Given the description of an element on the screen output the (x, y) to click on. 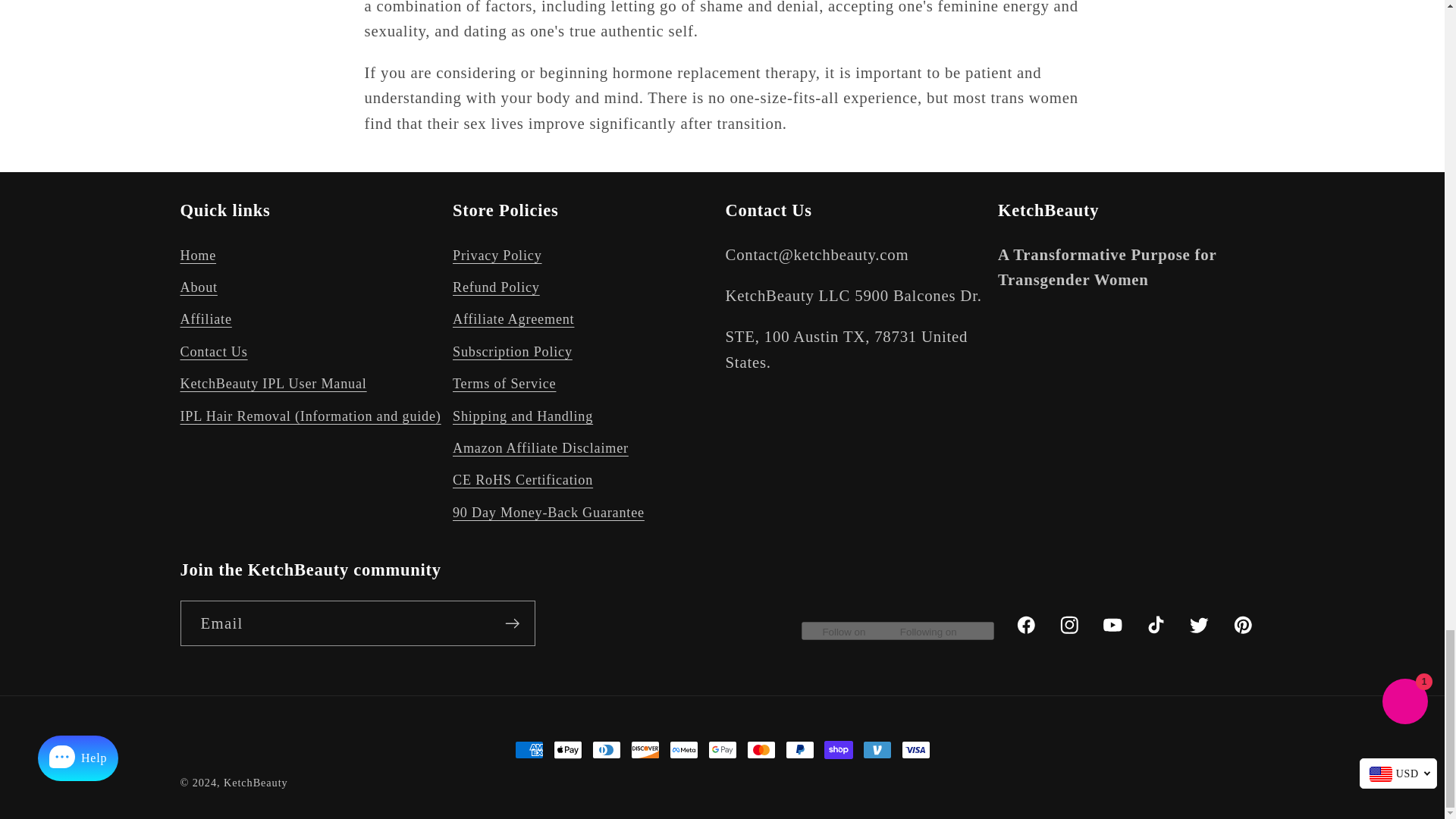
Affiliate (205, 319)
Contact Us (213, 351)
Refund Policy (496, 287)
Privacy Policy (496, 257)
Home (198, 257)
About (198, 287)
Affiliate Agreement (512, 319)
KetchBeauty IPL User Manual (273, 384)
